Given the description of an element on the screen output the (x, y) to click on. 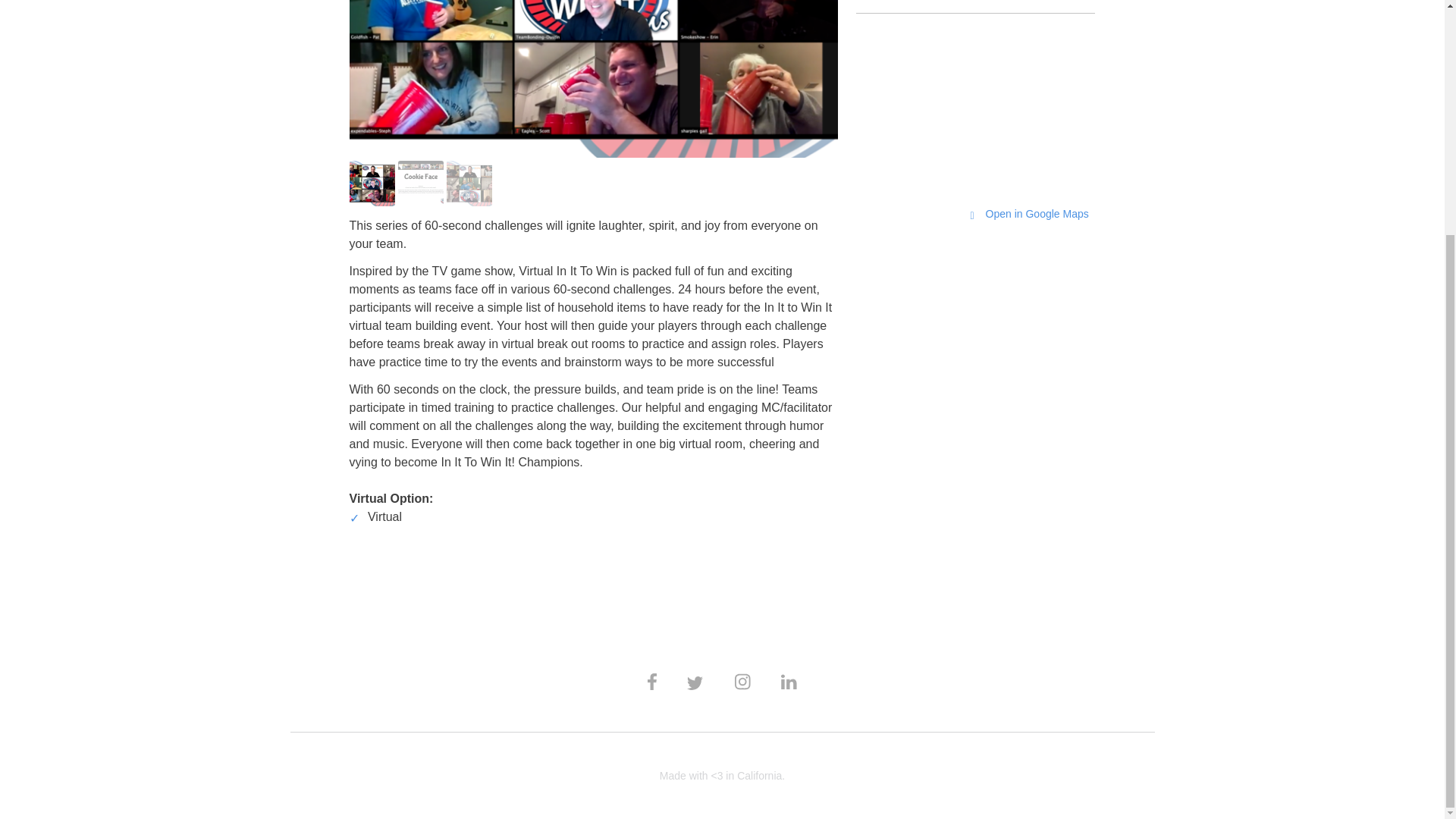
Open in Google Maps (1028, 214)
